Given the description of an element on the screen output the (x, y) to click on. 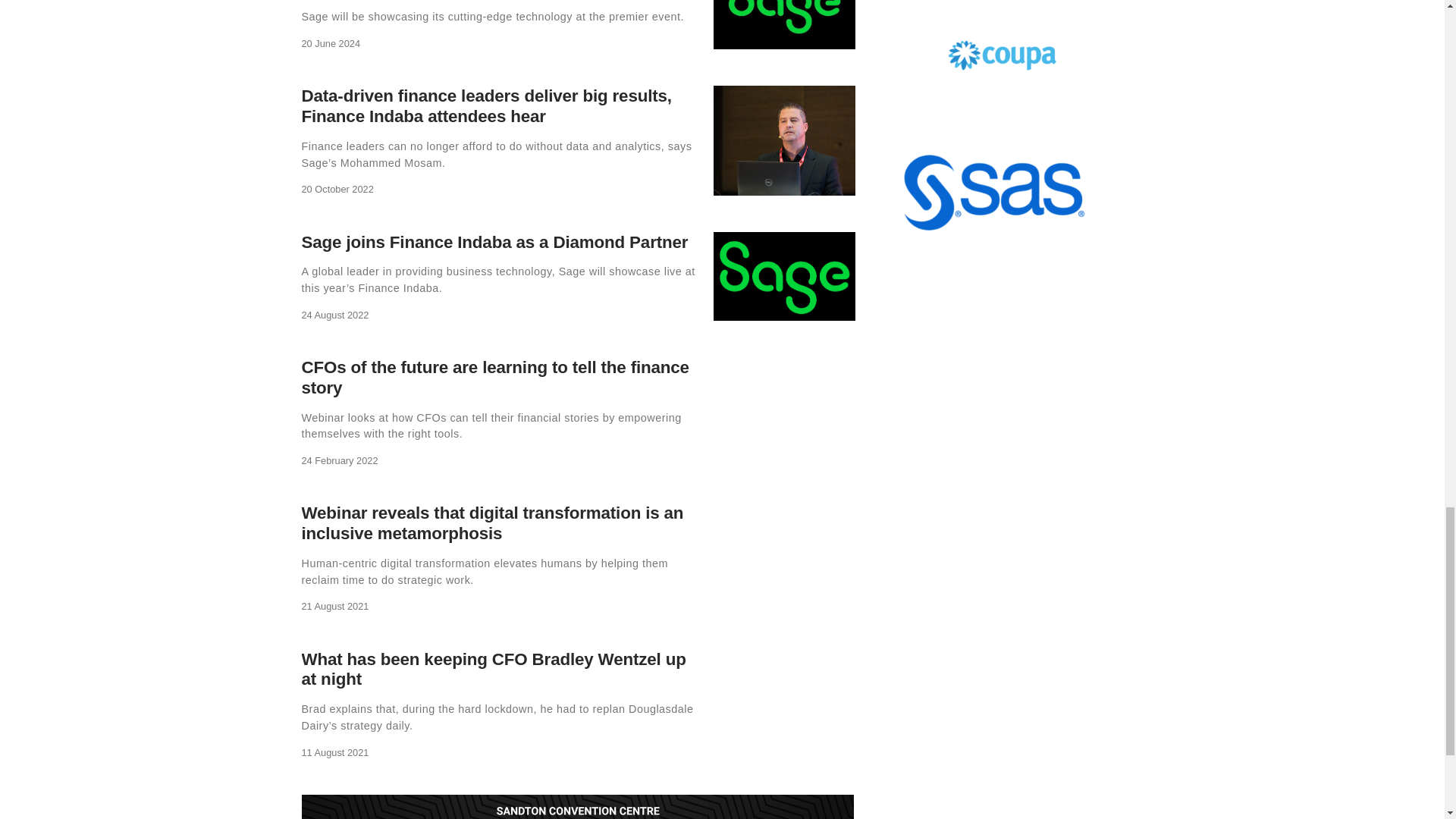
CFOs of the future are learning to tell the finance story (494, 377)
What has been keeping CFO Bradley Wentzel up at night (493, 669)
Sage joins Finance Indaba as a Diamond Partner (494, 240)
